Given the description of an element on the screen output the (x, y) to click on. 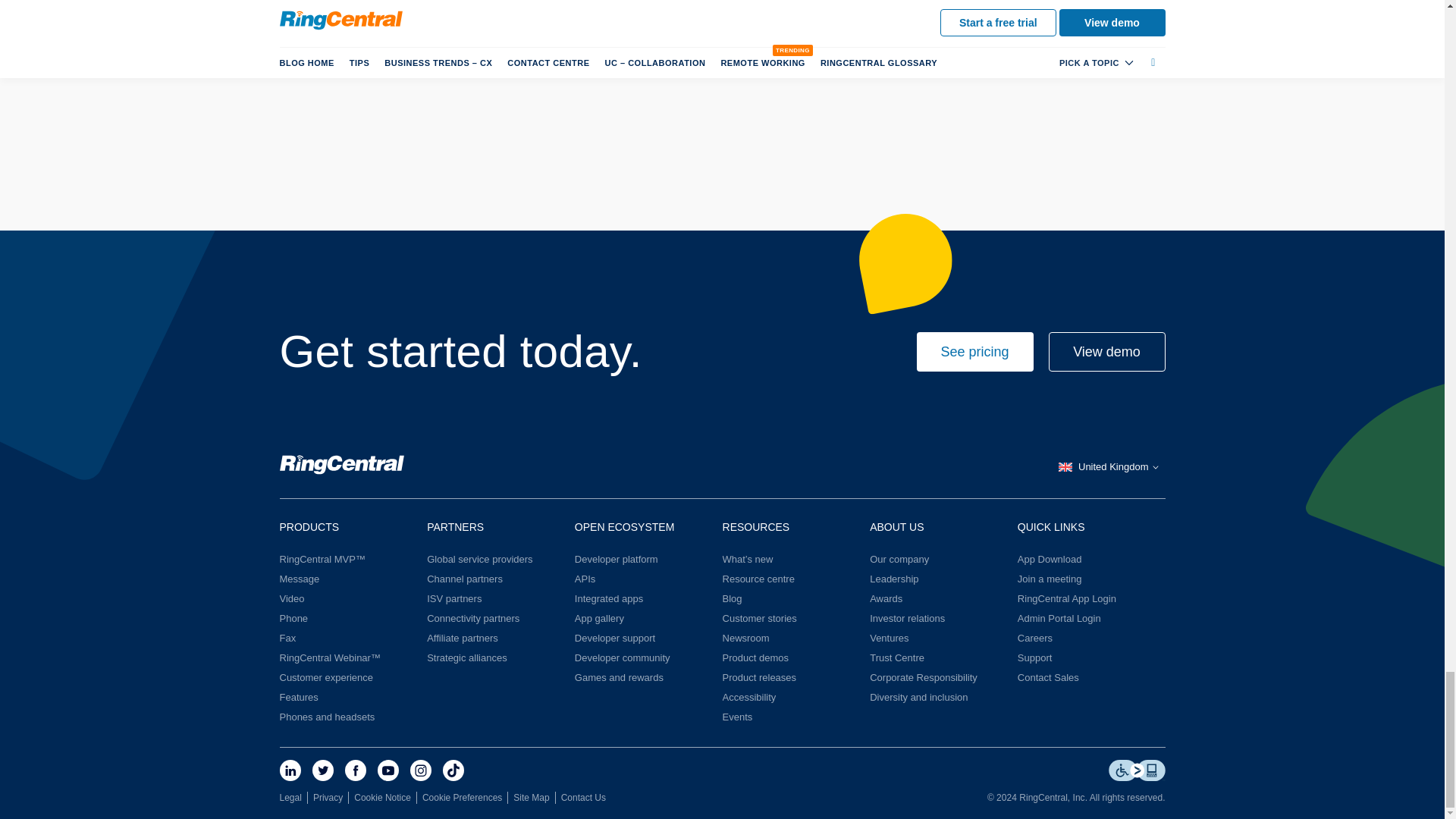
Post Comment (494, 48)
View demo (1106, 351)
RingCentral Logo (341, 466)
See pricing (973, 351)
